Given the description of an element on the screen output the (x, y) to click on. 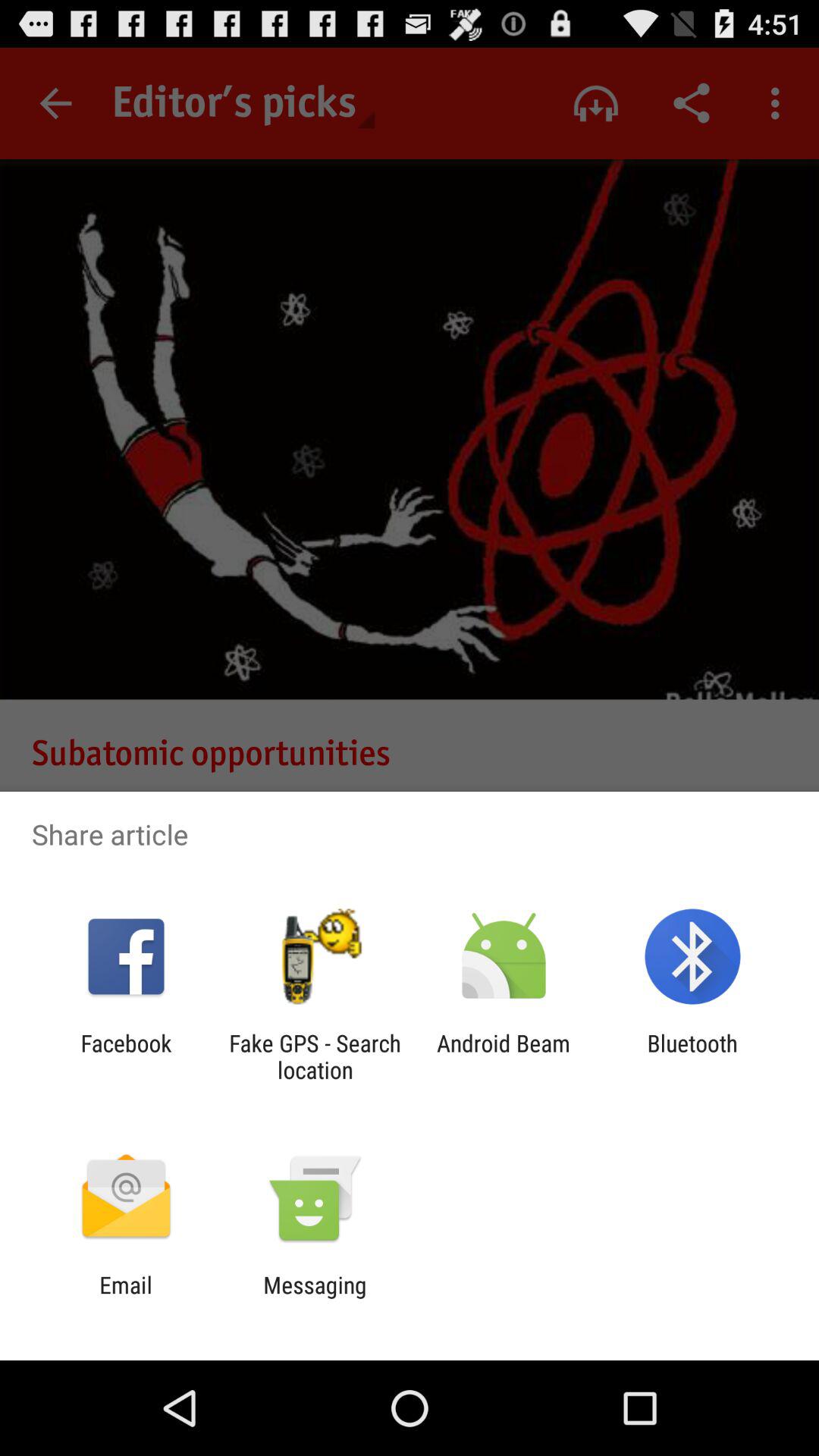
open the app next to the fake gps search (125, 1056)
